Given the description of an element on the screen output the (x, y) to click on. 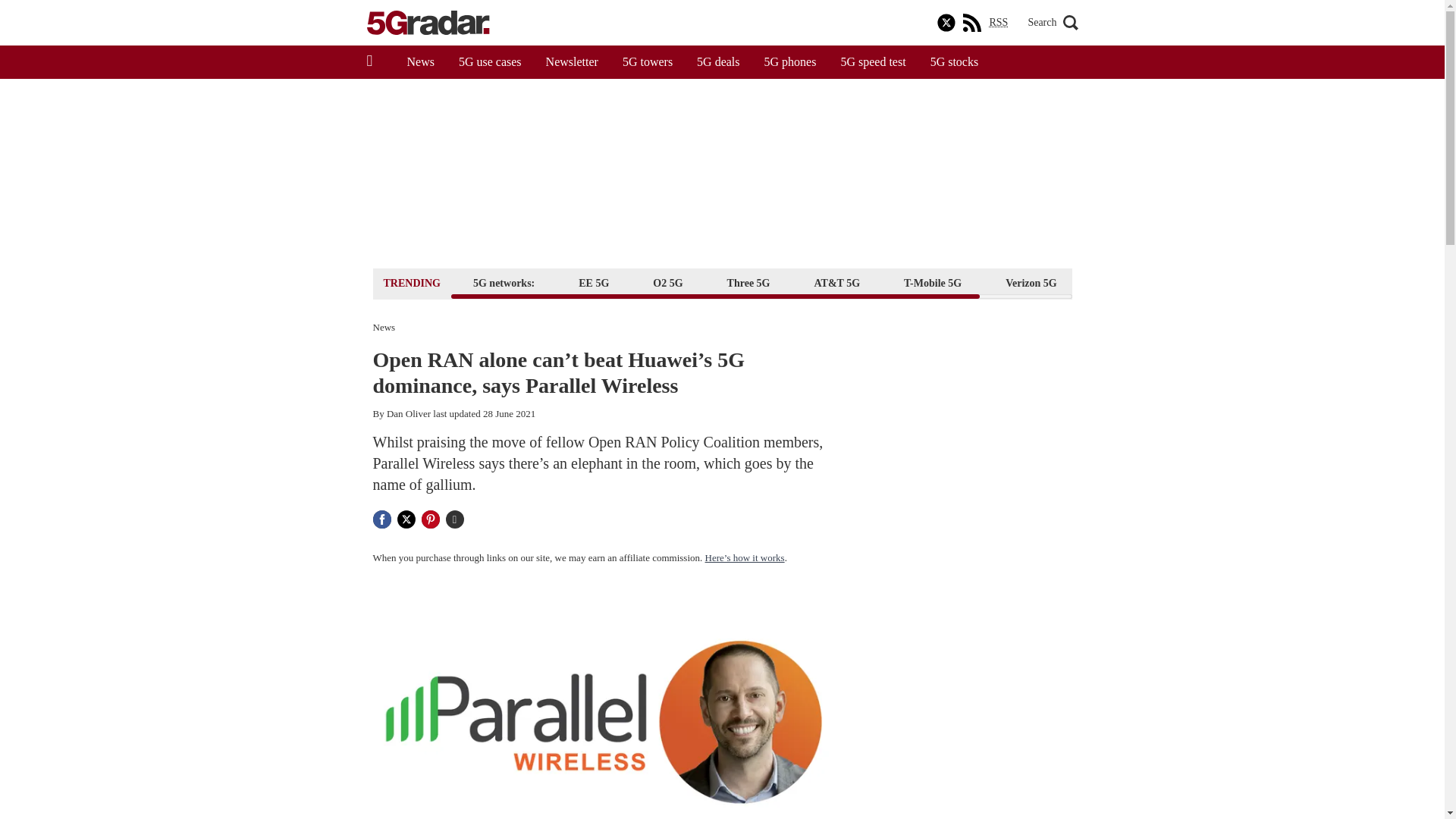
5G towers (647, 61)
5G speed test (872, 61)
5G stocks (954, 61)
5G networks: (503, 282)
5G phones (790, 61)
Really Simple Syndication (997, 21)
Vodafone 5G (1131, 282)
RSS (997, 22)
O2 5G (667, 282)
T-Mobile 5G (932, 282)
News (419, 61)
Verizon 5G (1031, 282)
5G deals (717, 61)
Dan Oliver (408, 413)
Newsletter (572, 61)
